Given the description of an element on the screen output the (x, y) to click on. 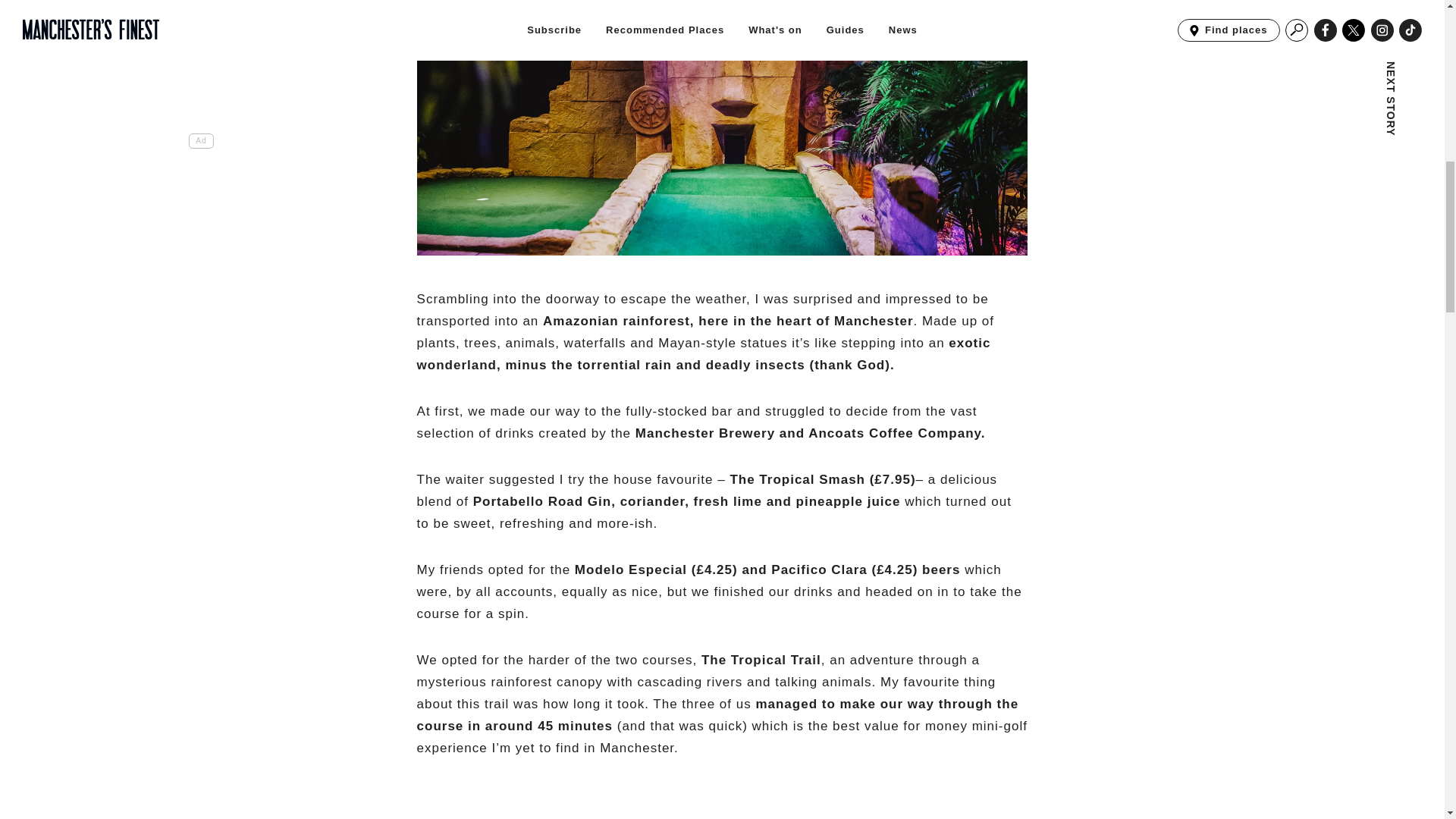
NEXT STORY (1297, 53)
